Given the description of an element on the screen output the (x, y) to click on. 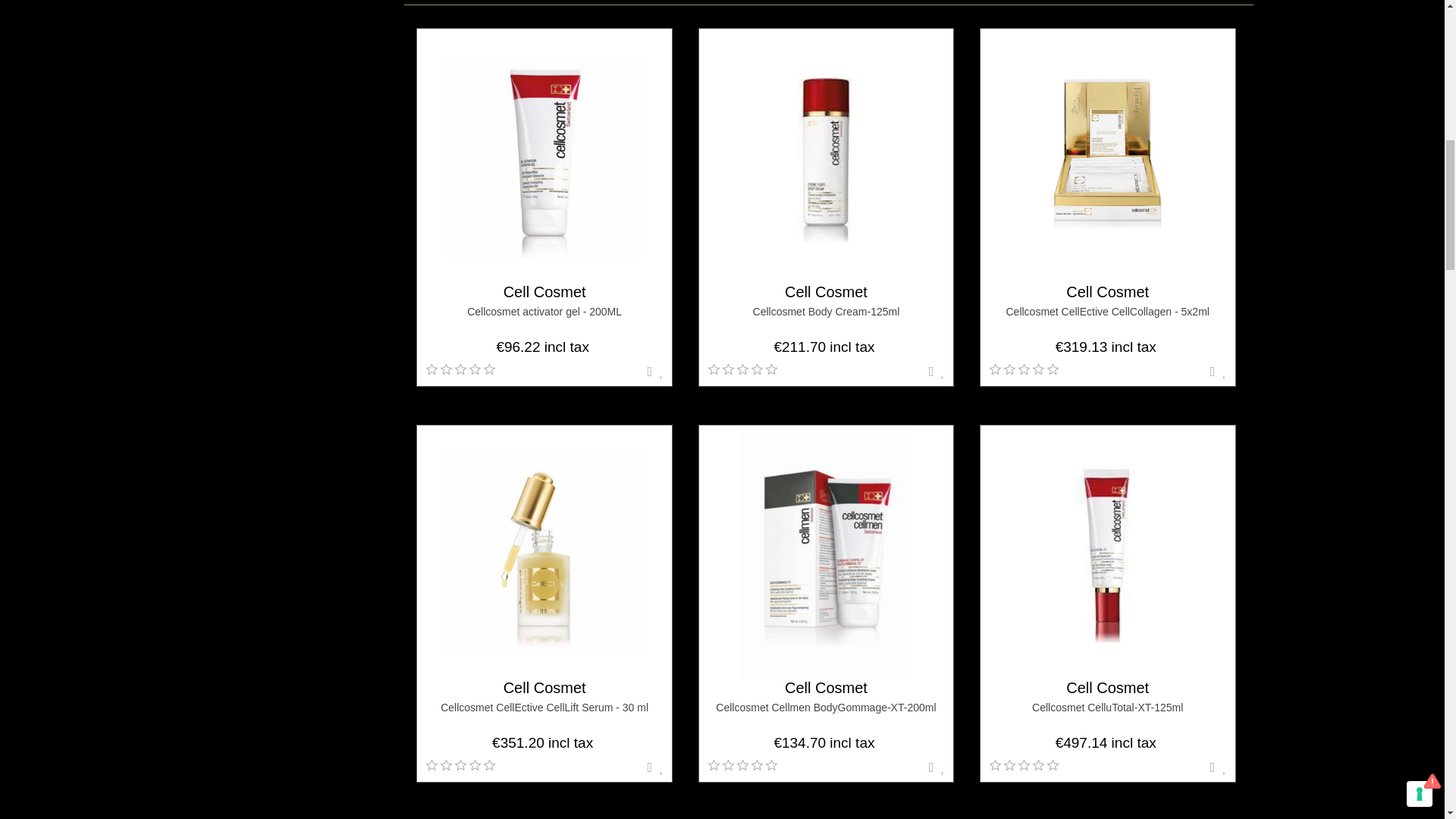
Show details for Cellcosmet CellEctive CellCollagen  - 5x2ml (1107, 155)
Show details for Cellcosmet Body Cream-125ml (825, 155)
Cellcosmet activator gel  - 200ML (544, 156)
